Given the description of an element on the screen output the (x, y) to click on. 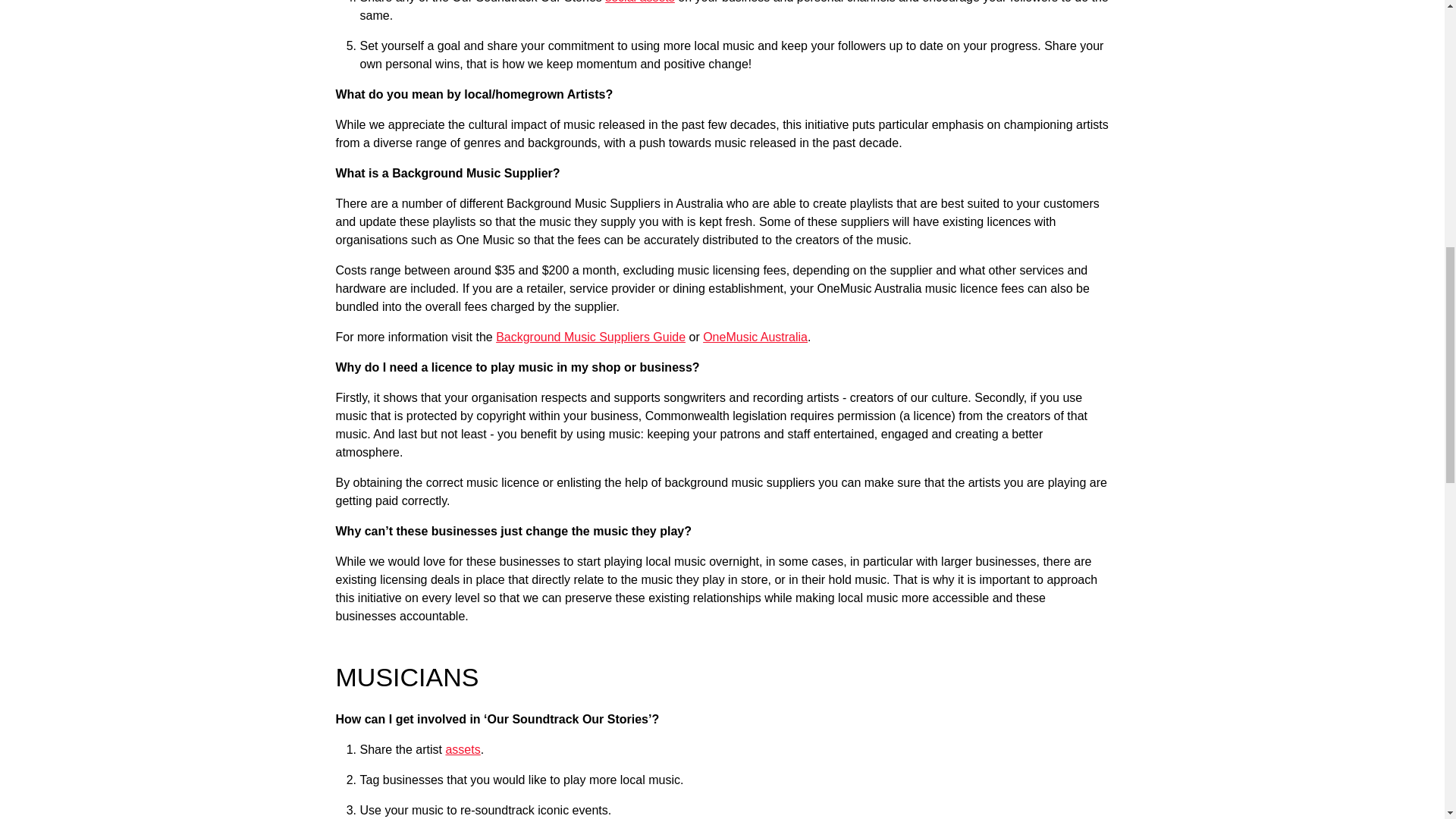
social assets (640, 2)
Background Music Suppliers Guide (590, 336)
OneMusic Australia (755, 336)
